Given the description of an element on the screen output the (x, y) to click on. 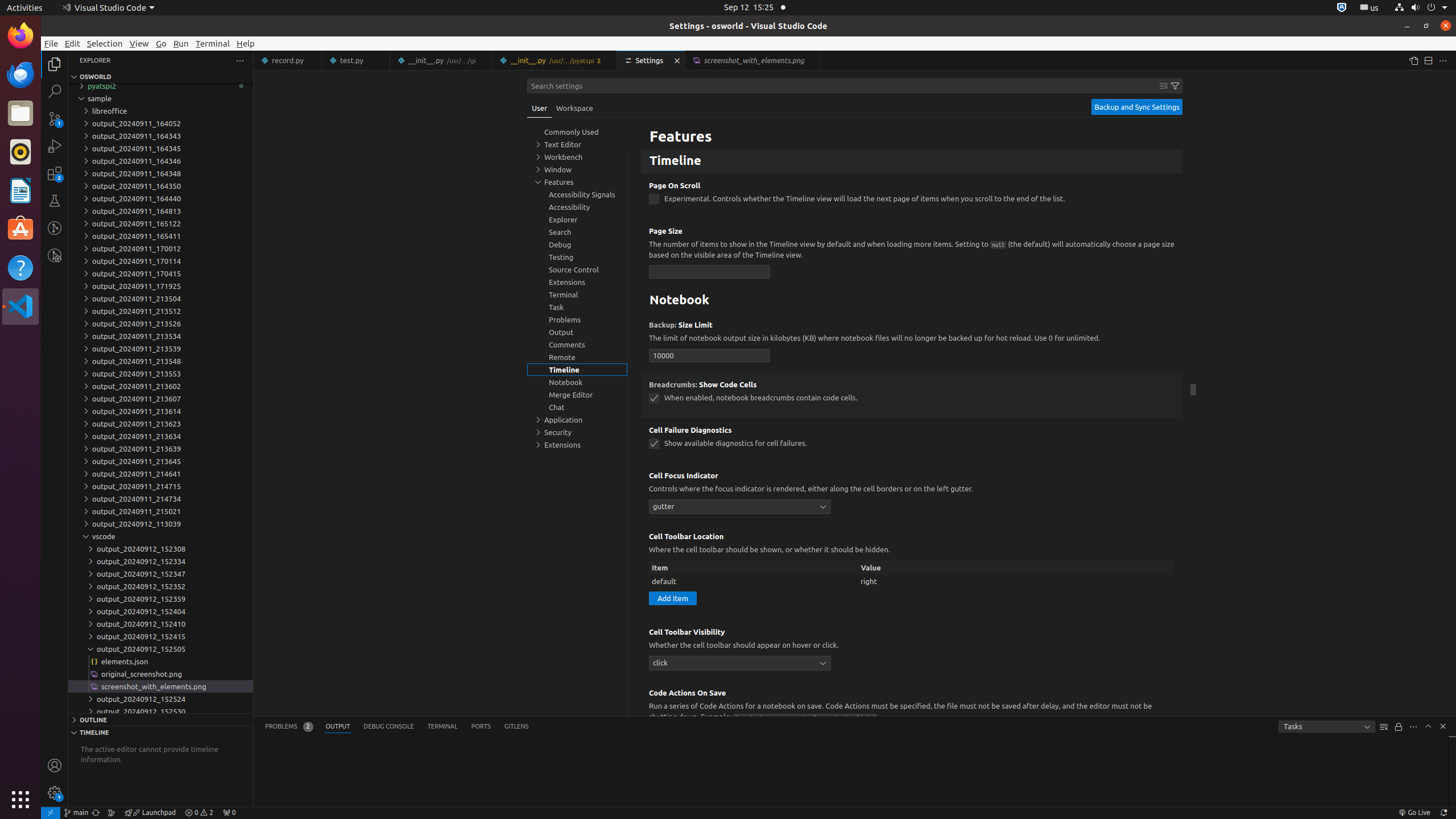
Source Control, group Element type: tree-item (577, 269)
record.py Element type: page-tab (287, 60)
File Element type: push-button (50, 43)
 Code Actions On Save. Run a series of Code Actions for a notebook on save. Code Actions must be specified, the file must not be saved after delay, and the editor must not be shutting down. Example: "notebook.source.organizeImports": "explicit"  Element type: tree-item (911, 713)
screenshot_with_elements.png, preview Element type: page-tab (753, 60)
